Given the description of an element on the screen output the (x, y) to click on. 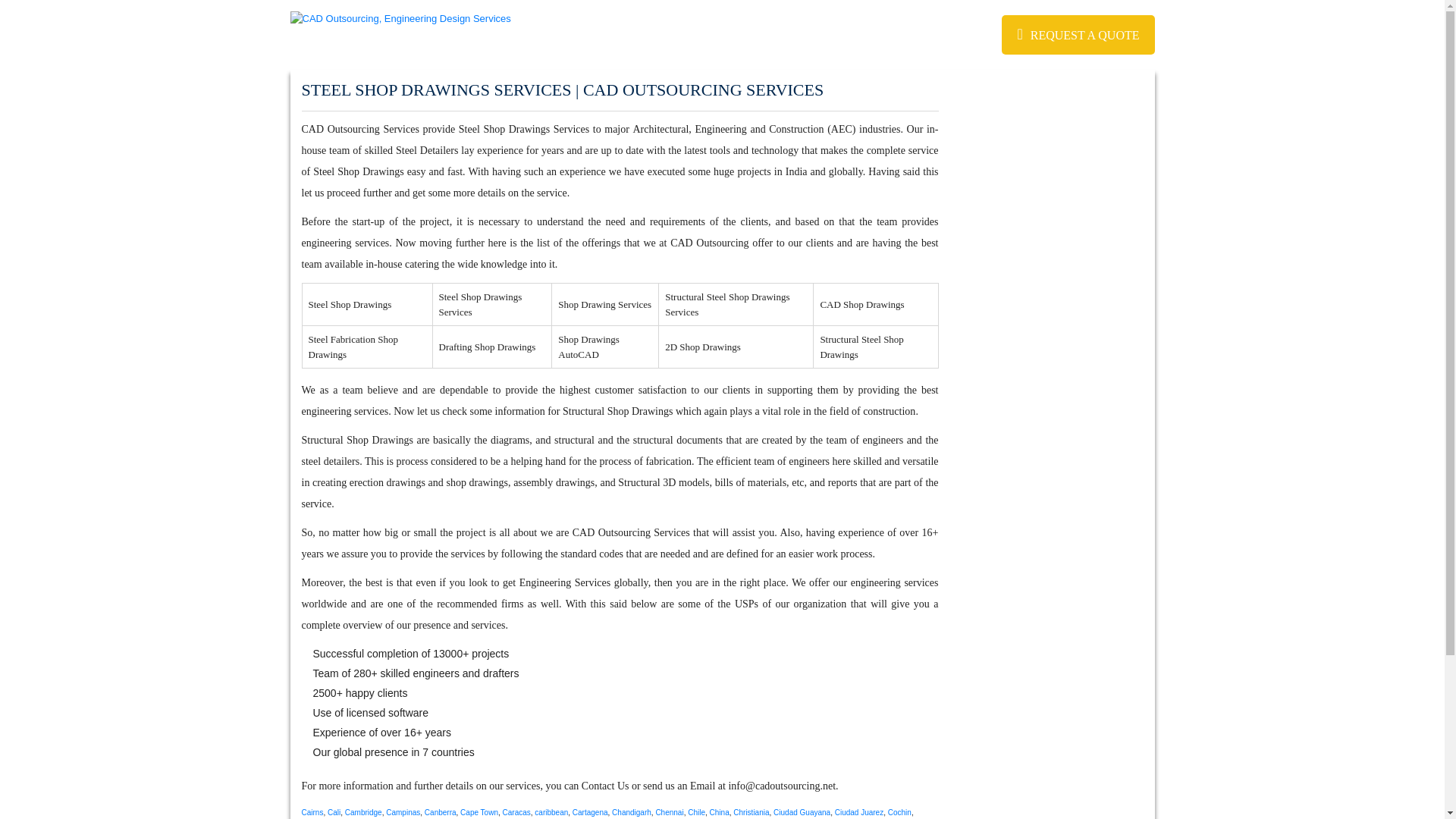
caribbean (550, 812)
Chennai (668, 812)
Ciudad Juarez (858, 812)
CAD Outsourcing Services (360, 129)
Cairns (312, 812)
Outsource Steel Shop Drawing Services (523, 129)
Caracas (516, 812)
Cape Town (478, 812)
Canberra (441, 812)
Ciudad Guayana (801, 812)
